Given the description of an element on the screen output the (x, y) to click on. 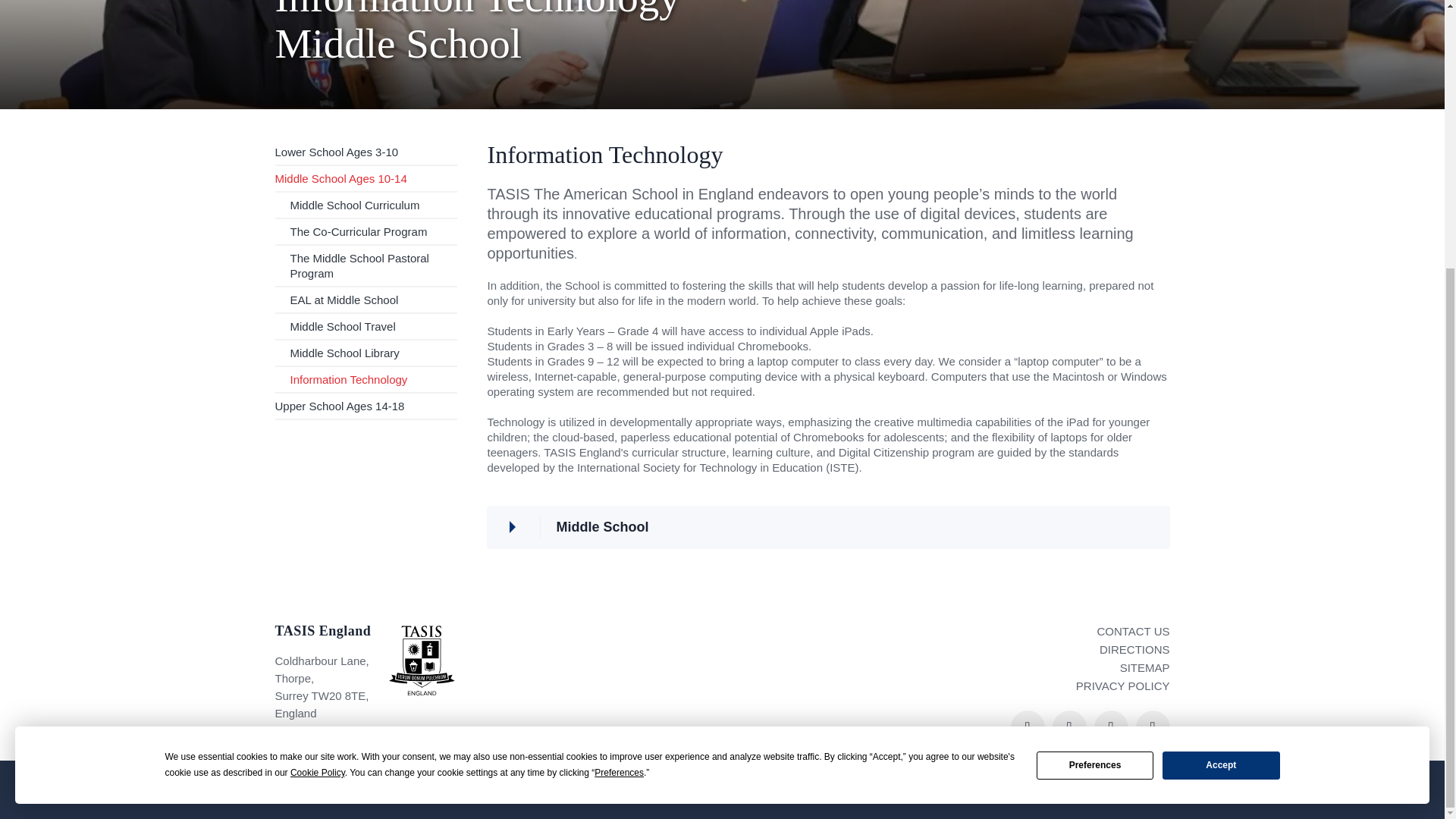
Accept (1220, 374)
Preferences (1094, 374)
